Given the description of an element on the screen output the (x, y) to click on. 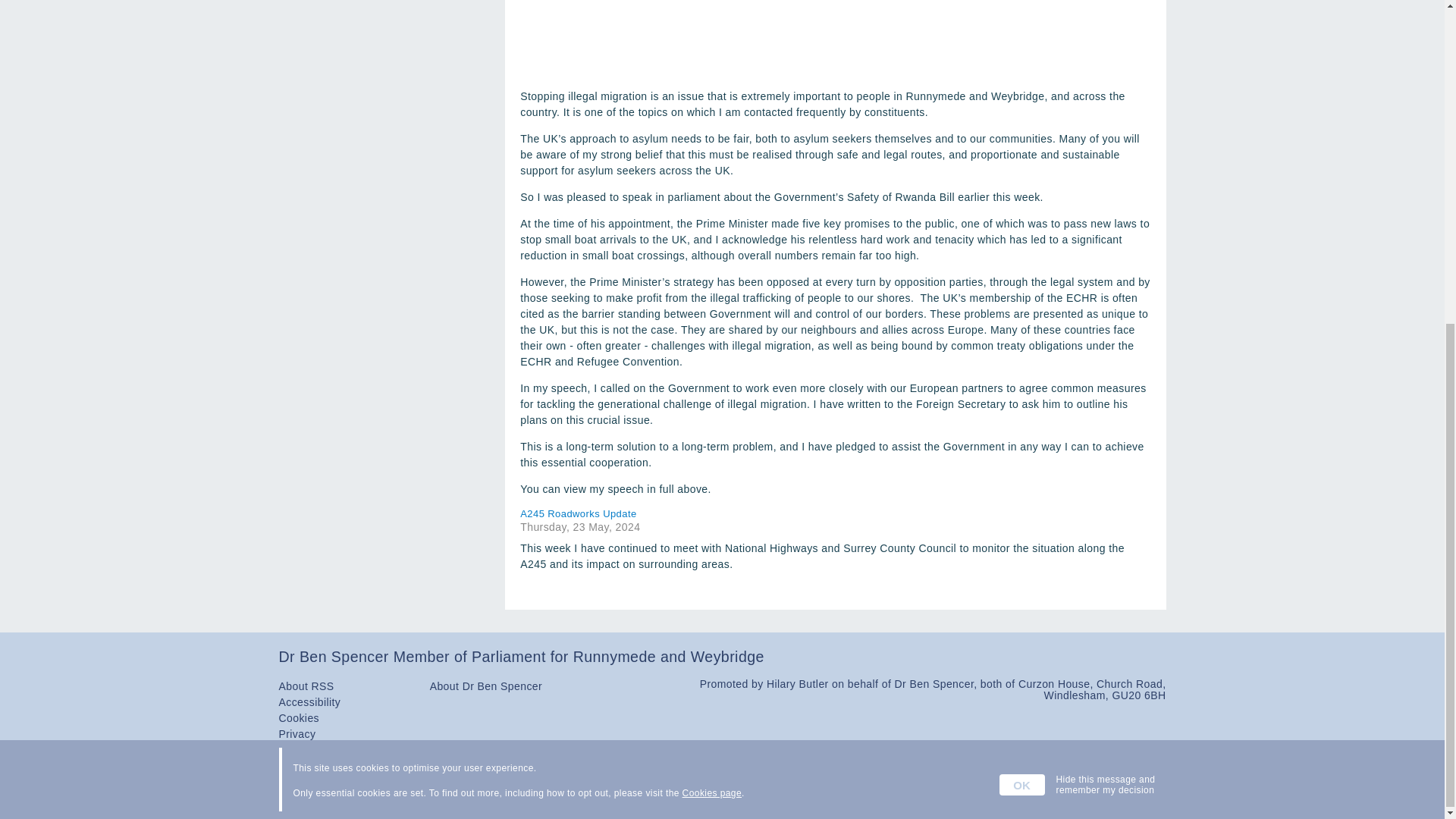
Bluetree (1145, 793)
Cookies page (711, 262)
Privacy (297, 734)
About Dr Ben Spencer (485, 686)
OK (1021, 254)
About RSS (306, 686)
Accessibility (309, 702)
Youtube video (834, 39)
Cookies (299, 717)
A245 Roadworks Update (834, 513)
